Given the description of an element on the screen output the (x, y) to click on. 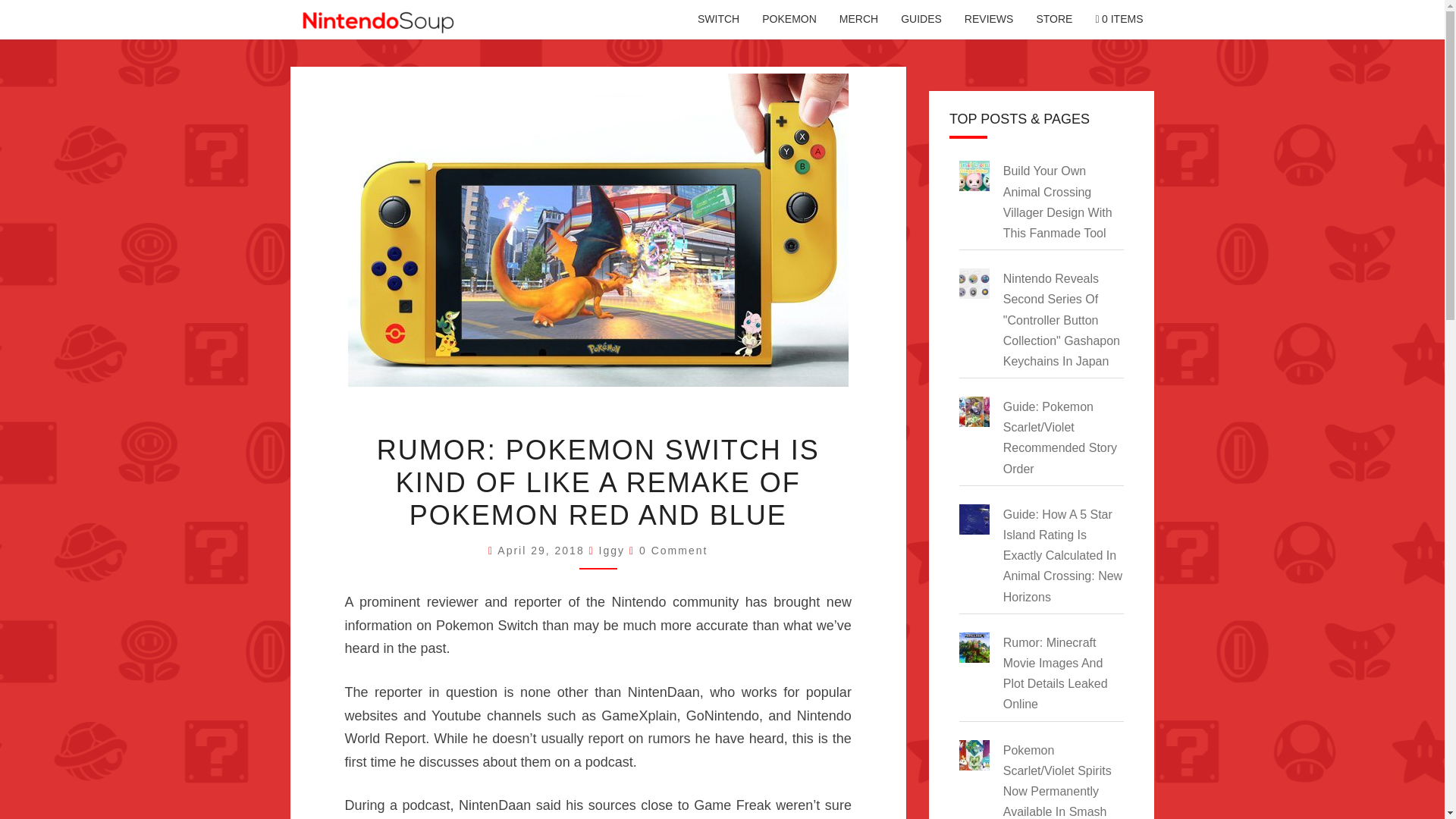
View all posts by Iggy (611, 550)
MERCH (858, 19)
12:09 pm (542, 550)
Rumor: Minecraft Movie Images And Plot Details Leaked Online (1055, 673)
SWITCH (718, 19)
STORE (1054, 19)
0 Comment (673, 550)
Iggy (611, 550)
GUIDES (921, 19)
POKEMON (789, 19)
REVIEWS (989, 19)
NintendoSoup - Soup for the gamer's soul (377, 22)
April 29, 2018 (542, 550)
